Given the description of an element on the screen output the (x, y) to click on. 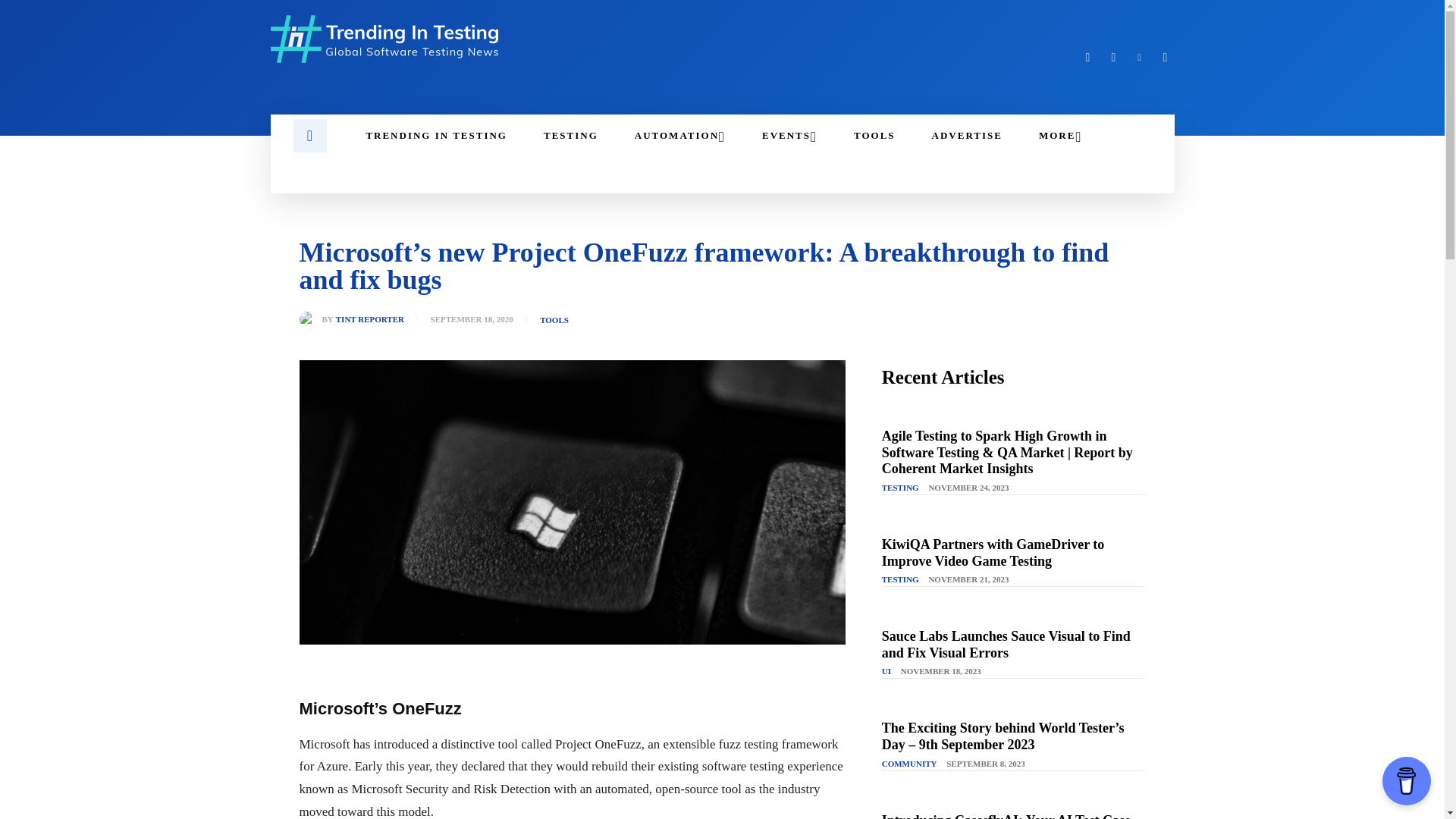
Instagram (1112, 57)
TRENDING IN TESTING (436, 135)
AUTOMATION (679, 135)
TESTING (570, 135)
Twitter (1164, 57)
Facebook (1087, 57)
Linkedin (1138, 57)
